Given the description of an element on the screen output the (x, y) to click on. 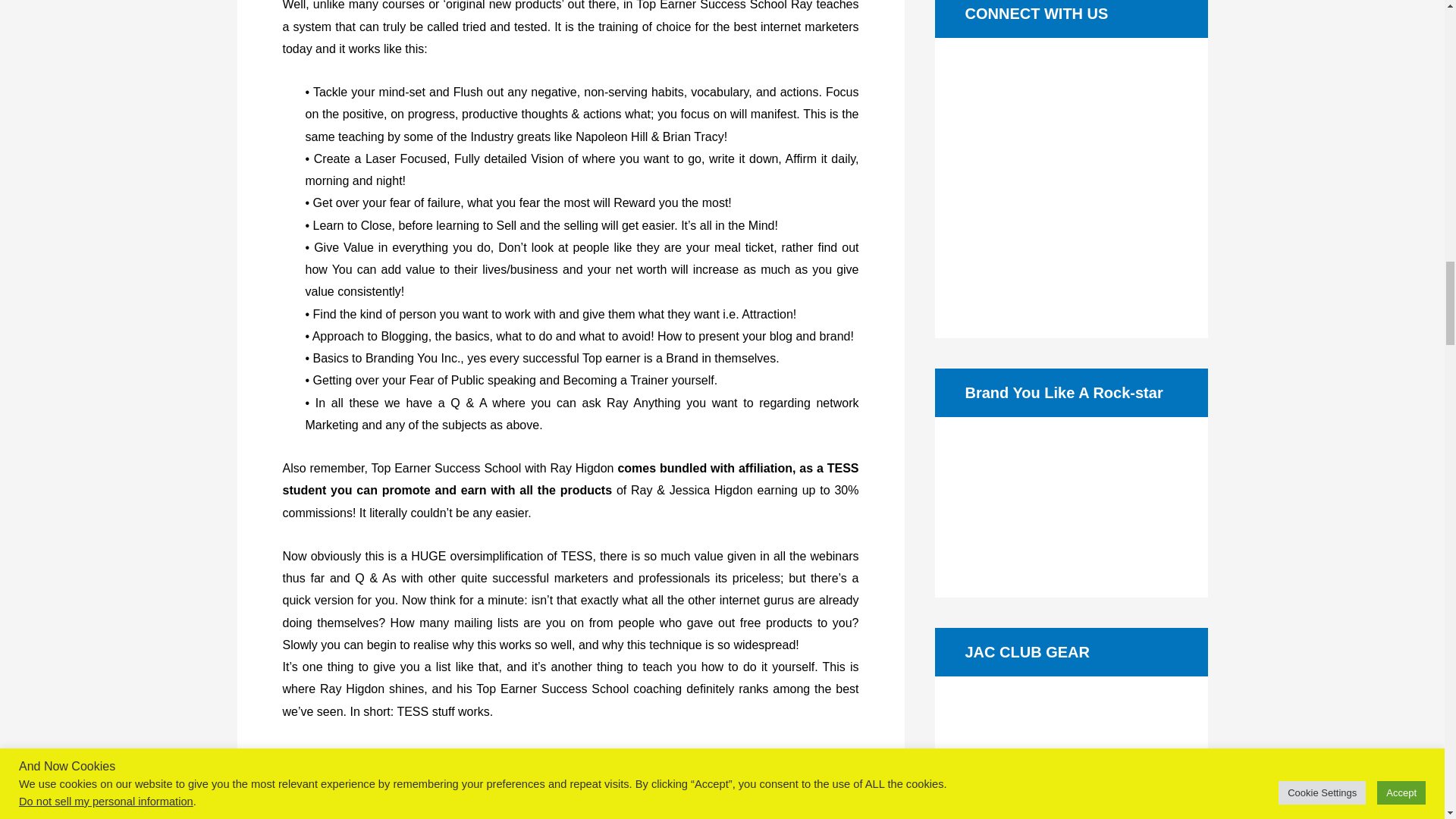
Visit Us On Facebook (996, 177)
Visit Us On Linkedin (1070, 177)
Visit Us On Twitter (1033, 177)
